Given the description of an element on the screen output the (x, y) to click on. 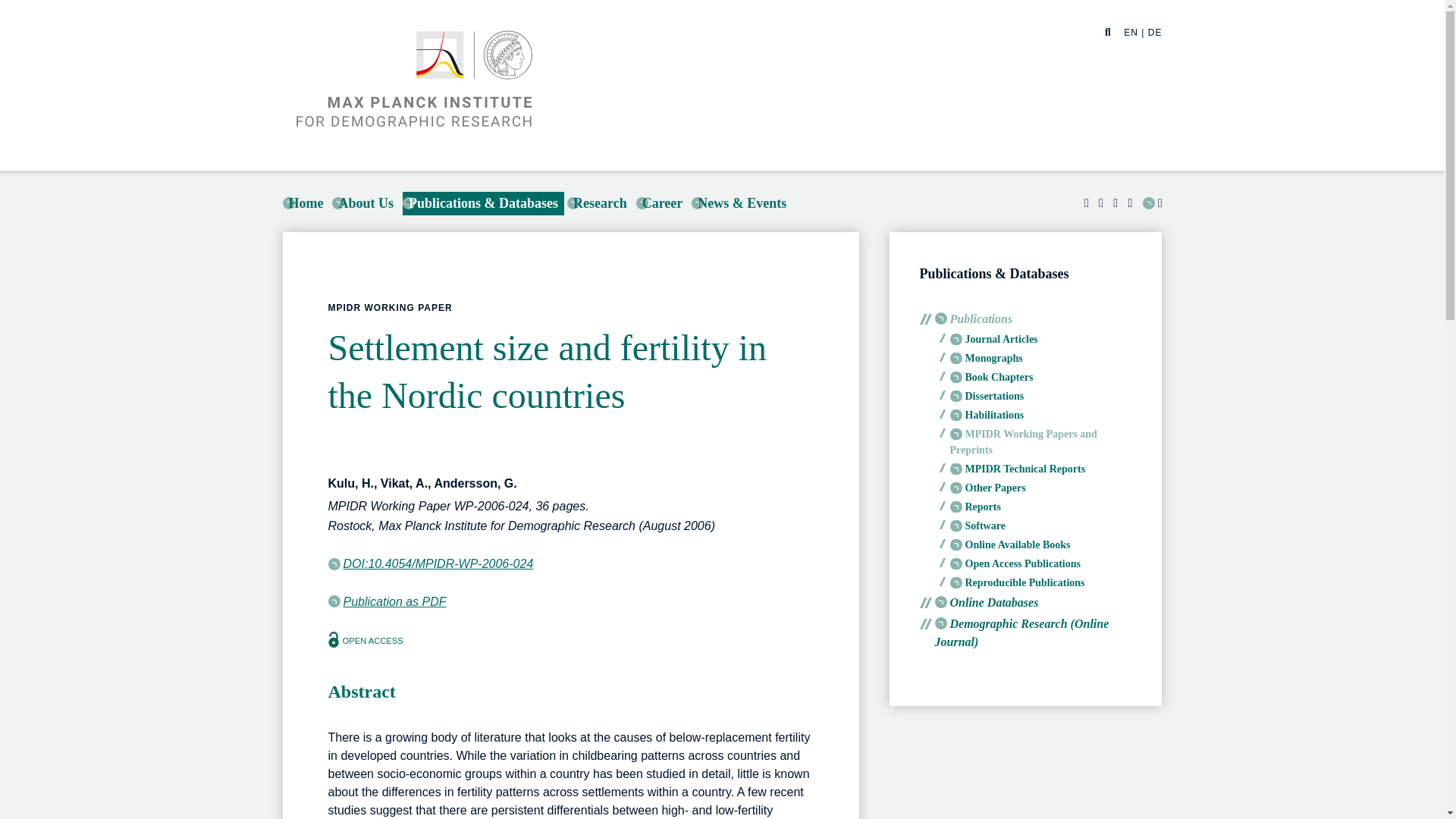
DE (1154, 32)
About Us (364, 203)
RSS Feed (1151, 202)
Home (305, 203)
